Given the description of an element on the screen output the (x, y) to click on. 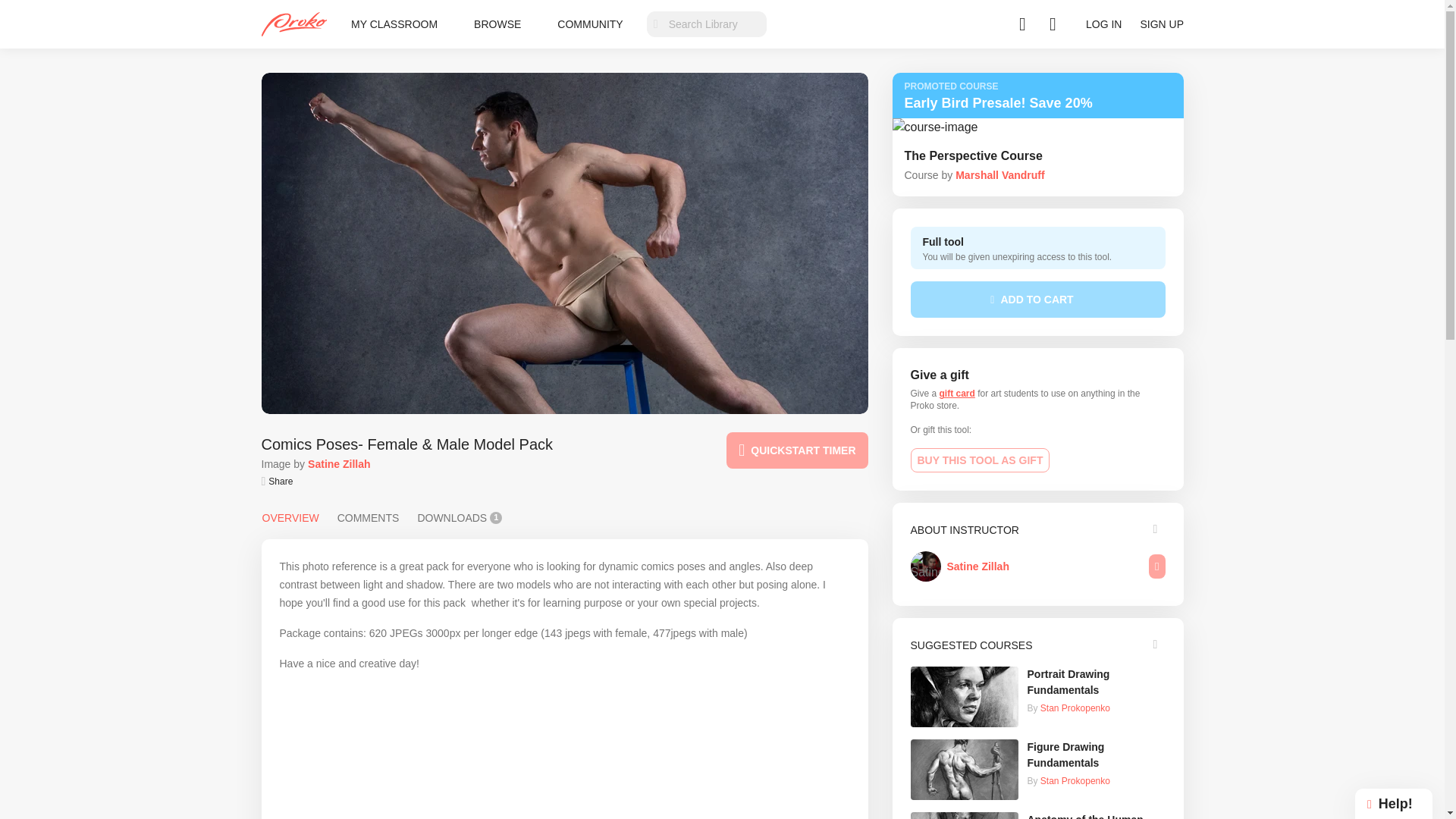
Stan Prokopenko (1075, 707)
SIGN UP (1161, 24)
Marshall Vandruff (999, 174)
Satine Zillah (977, 566)
Anatomy of the Human Body (1095, 815)
ADD TO CART (1037, 299)
OVERVIEW (290, 517)
LOG IN (1102, 24)
BUY THIS TOOL AS GIFT (979, 459)
Stan Prokopenko (1075, 780)
